Given the description of an element on the screen output the (x, y) to click on. 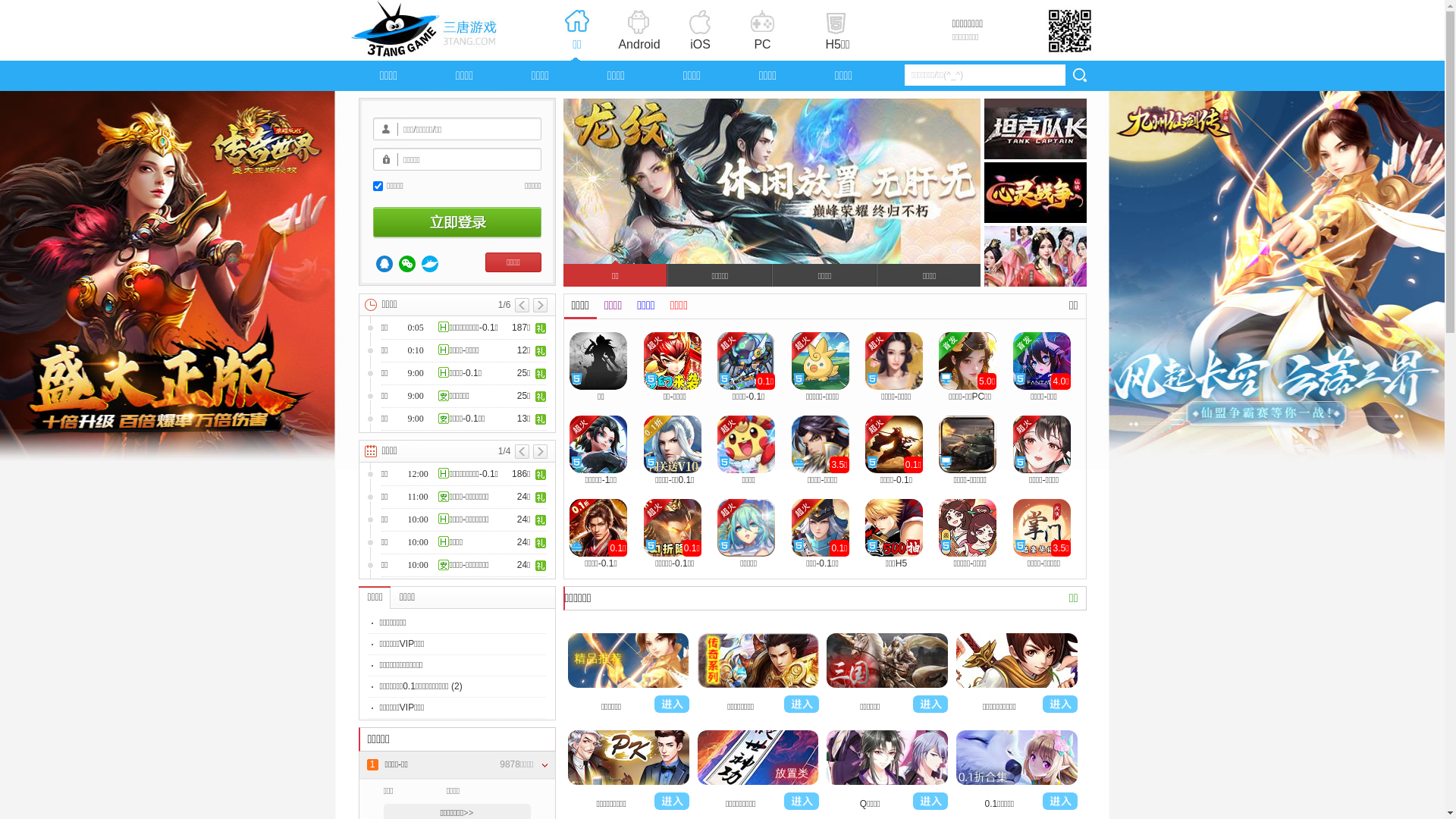
PC Element type: text (762, 30)
Android Element type: text (638, 30)
iOS Element type: text (699, 30)
